Given the description of an element on the screen output the (x, y) to click on. 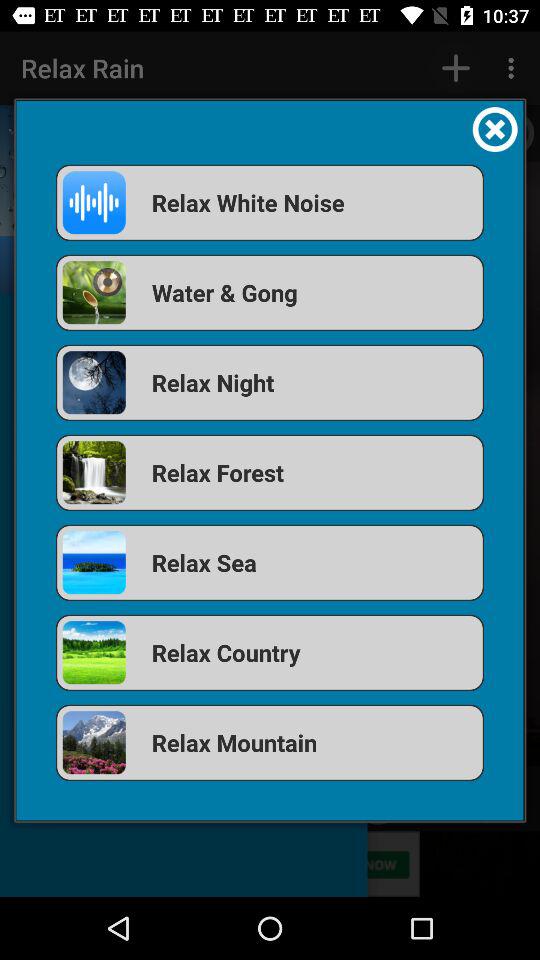
choose item above the relax mountain (269, 652)
